Given the description of an element on the screen output the (x, y) to click on. 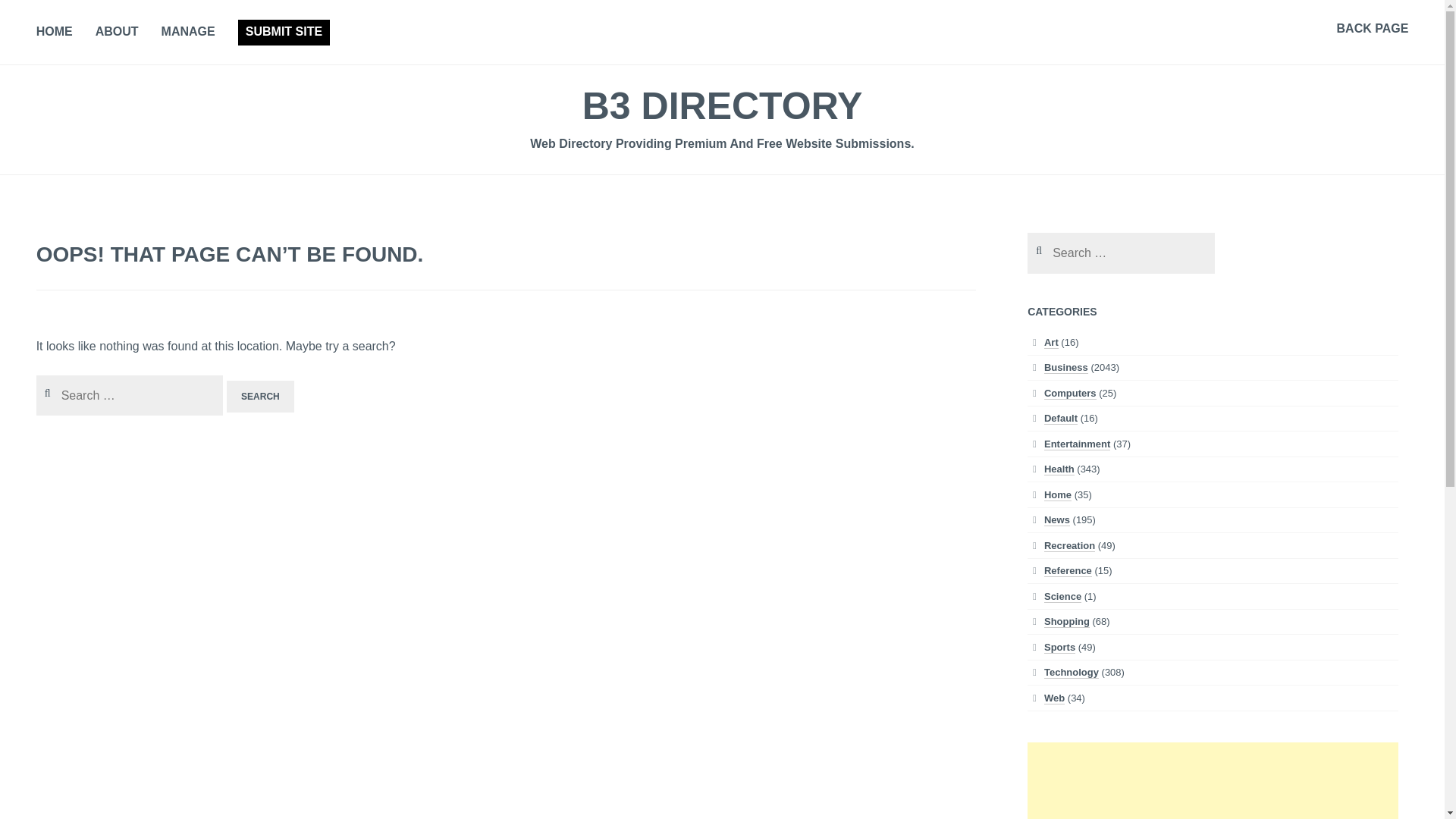
HOME (54, 32)
Home (1057, 494)
Shopping (1066, 621)
SUBMIT SITE (284, 32)
Search (260, 396)
BACK PAGE (1372, 29)
Search (33, 15)
Art (1050, 342)
Health (1058, 469)
Default (1060, 418)
